Given the description of an element on the screen output the (x, y) to click on. 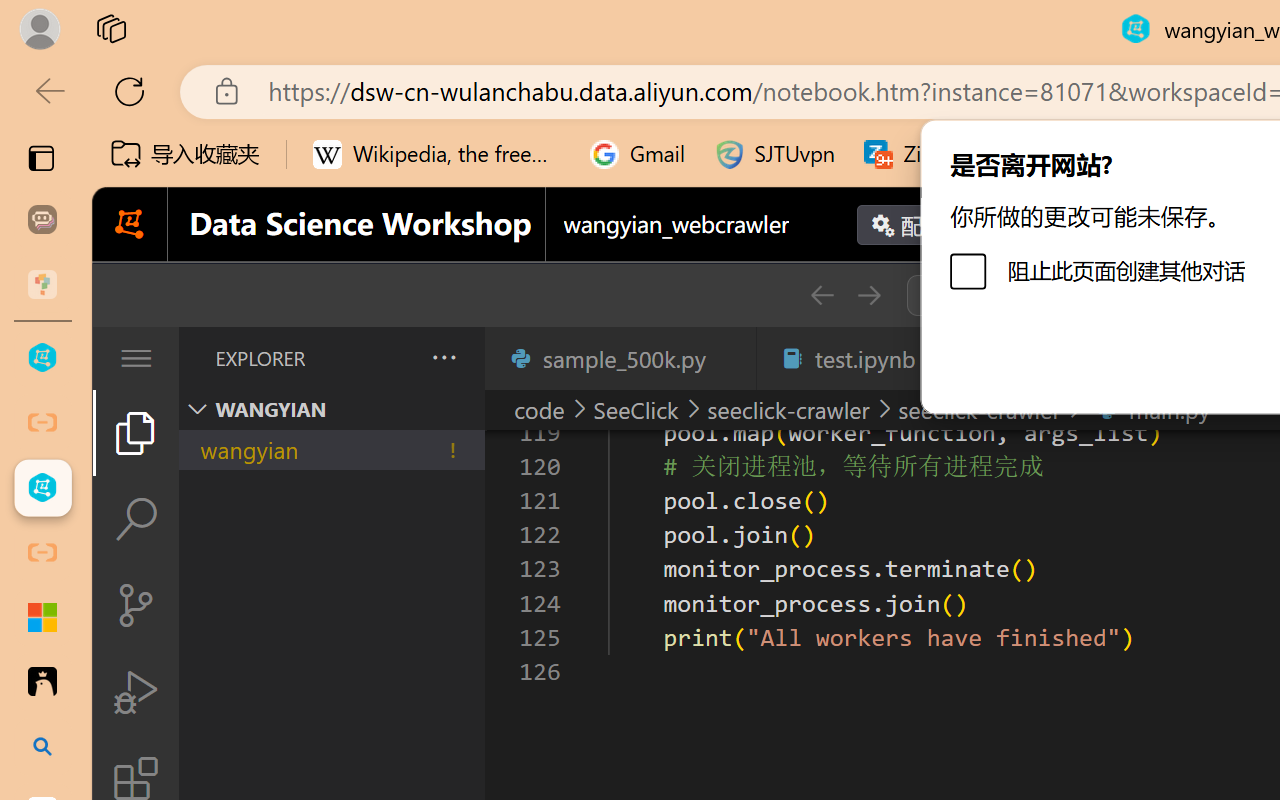
Class: menubar compact overflow-menu-only (135, 358)
Run and Debug (Ctrl+Shift+D) (135, 692)
sample_500k.py (619, 358)
Application Menu (135, 358)
Close (Ctrl+F4) (729, 358)
Wikipedia, the free encyclopedia (437, 154)
Tab actions (730, 358)
Explorer actions (391, 358)
